Given the description of an element on the screen output the (x, y) to click on. 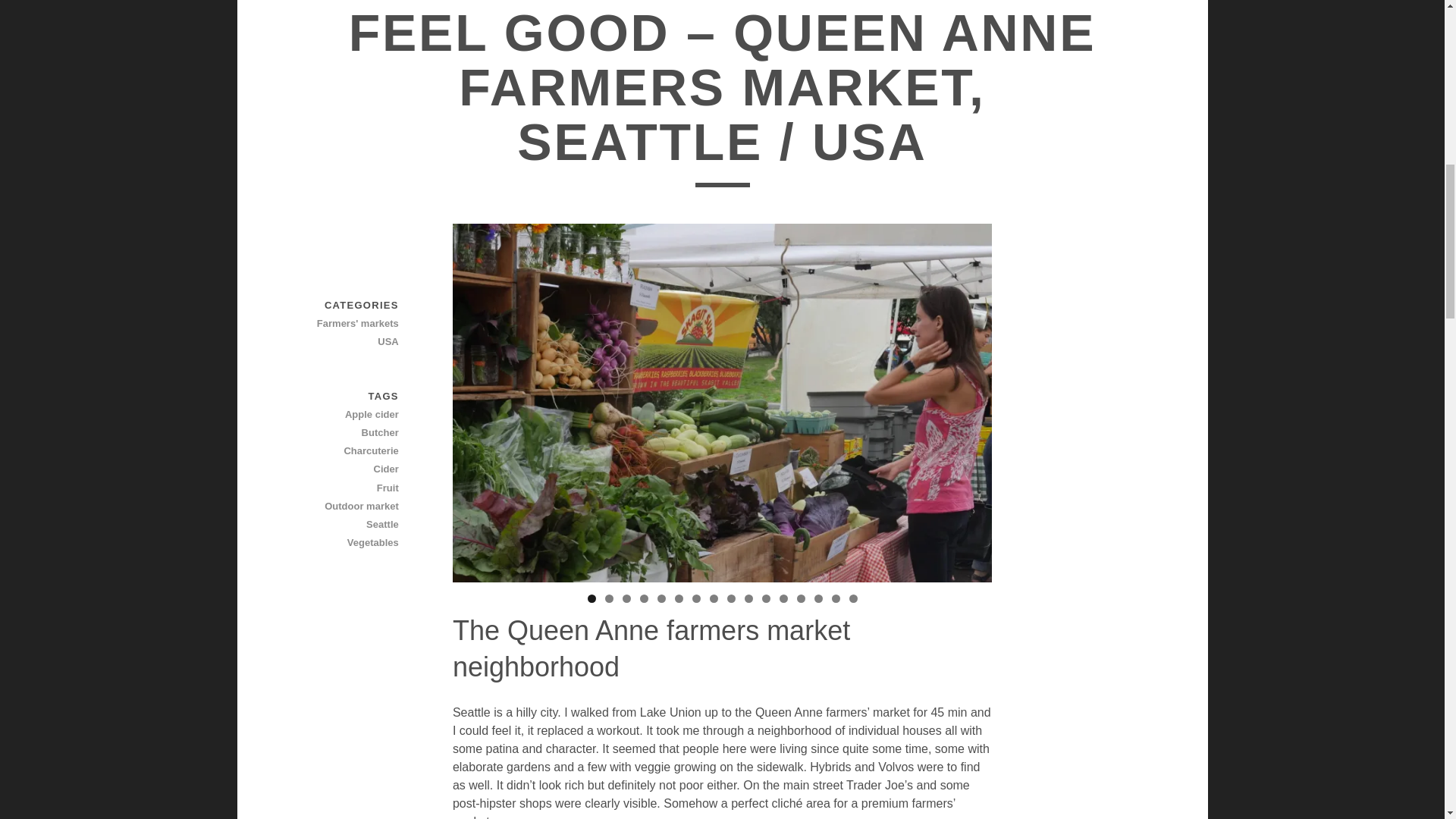
3 (625, 598)
8 (713, 598)
1 (590, 598)
7 (695, 598)
4 (643, 598)
14 (817, 598)
11 (765, 598)
5 (660, 598)
13 (800, 598)
15 (835, 598)
9 (730, 598)
16 (852, 598)
10 (748, 598)
2 (608, 598)
12 (782, 598)
